Given the description of an element on the screen output the (x, y) to click on. 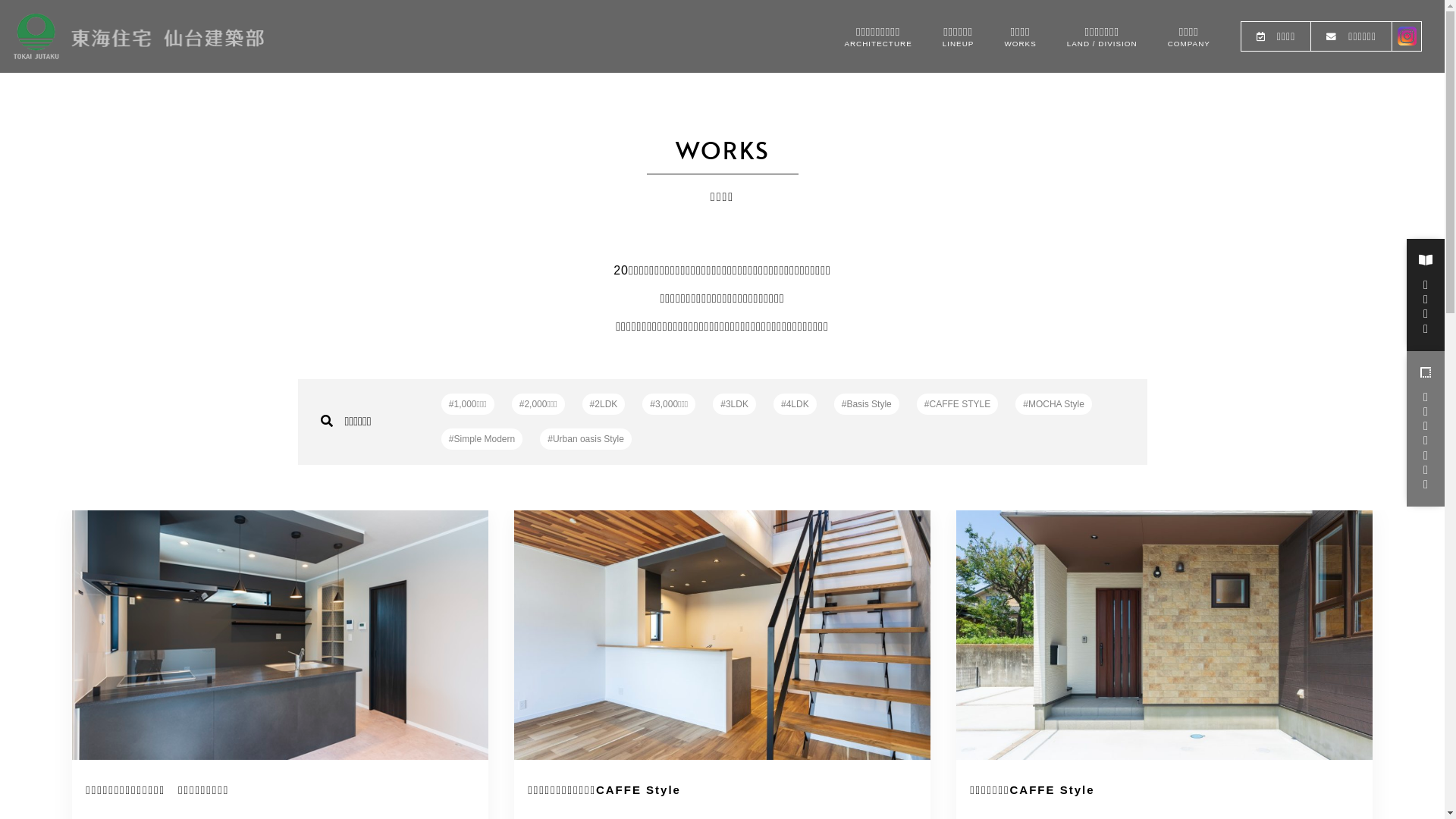
#Simple Modern Element type: text (481, 438)
#MOCHA Style Element type: text (1053, 403)
#Basis Style Element type: text (866, 403)
#2LDK Element type: text (603, 403)
#CAFFE STYLE Element type: text (956, 403)
#4LDK Element type: text (794, 403)
#3LDK Element type: text (734, 403)
#Urban oasis Style Element type: text (585, 438)
